Given the description of an element on the screen output the (x, y) to click on. 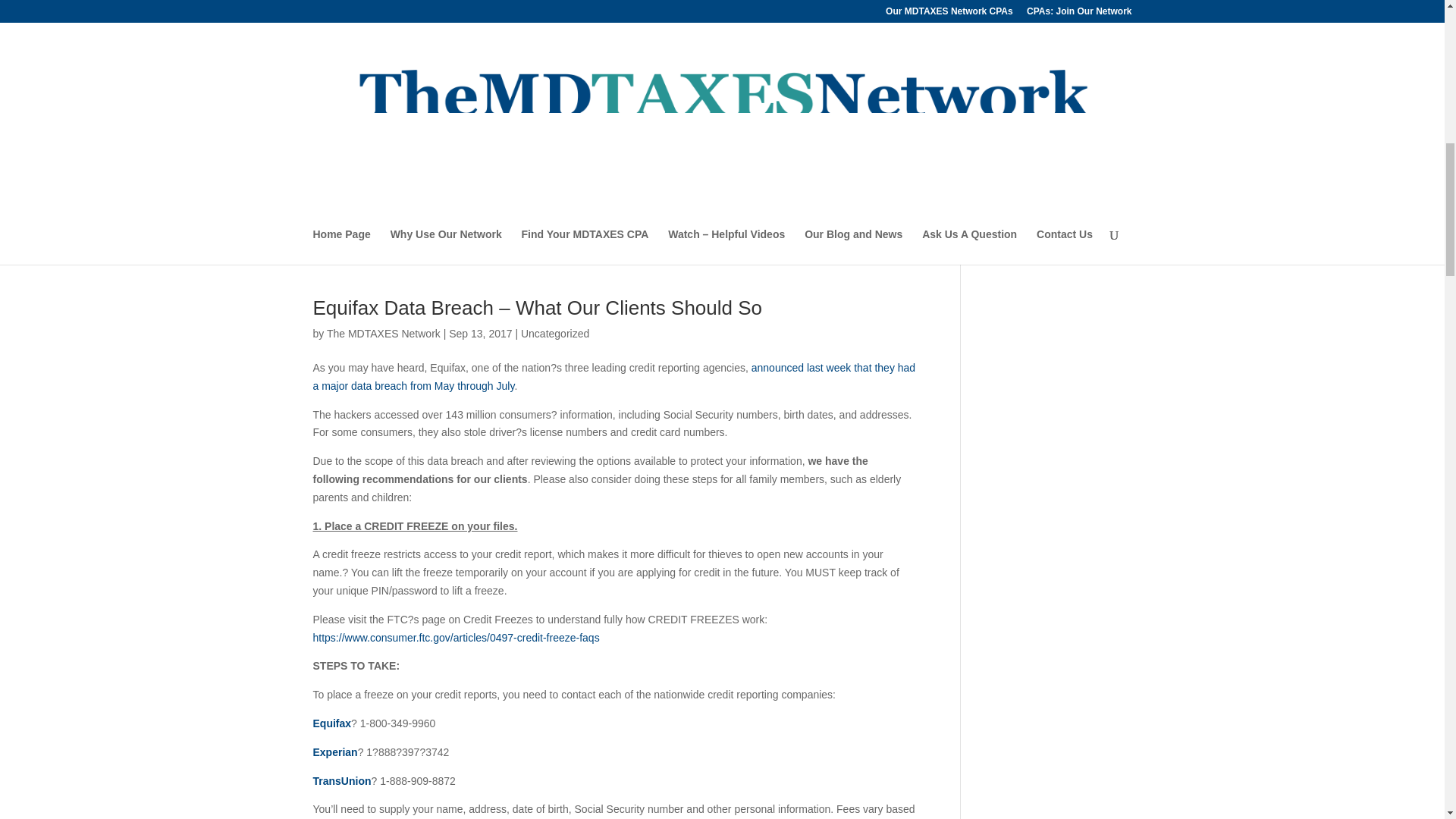
Equifax (331, 723)
TransUnion (342, 780)
The MDTAXES Network (383, 333)
Uncategorized (555, 333)
Posts by The MDTAXES Network (383, 333)
Experian (334, 752)
